Given the description of an element on the screen output the (x, y) to click on. 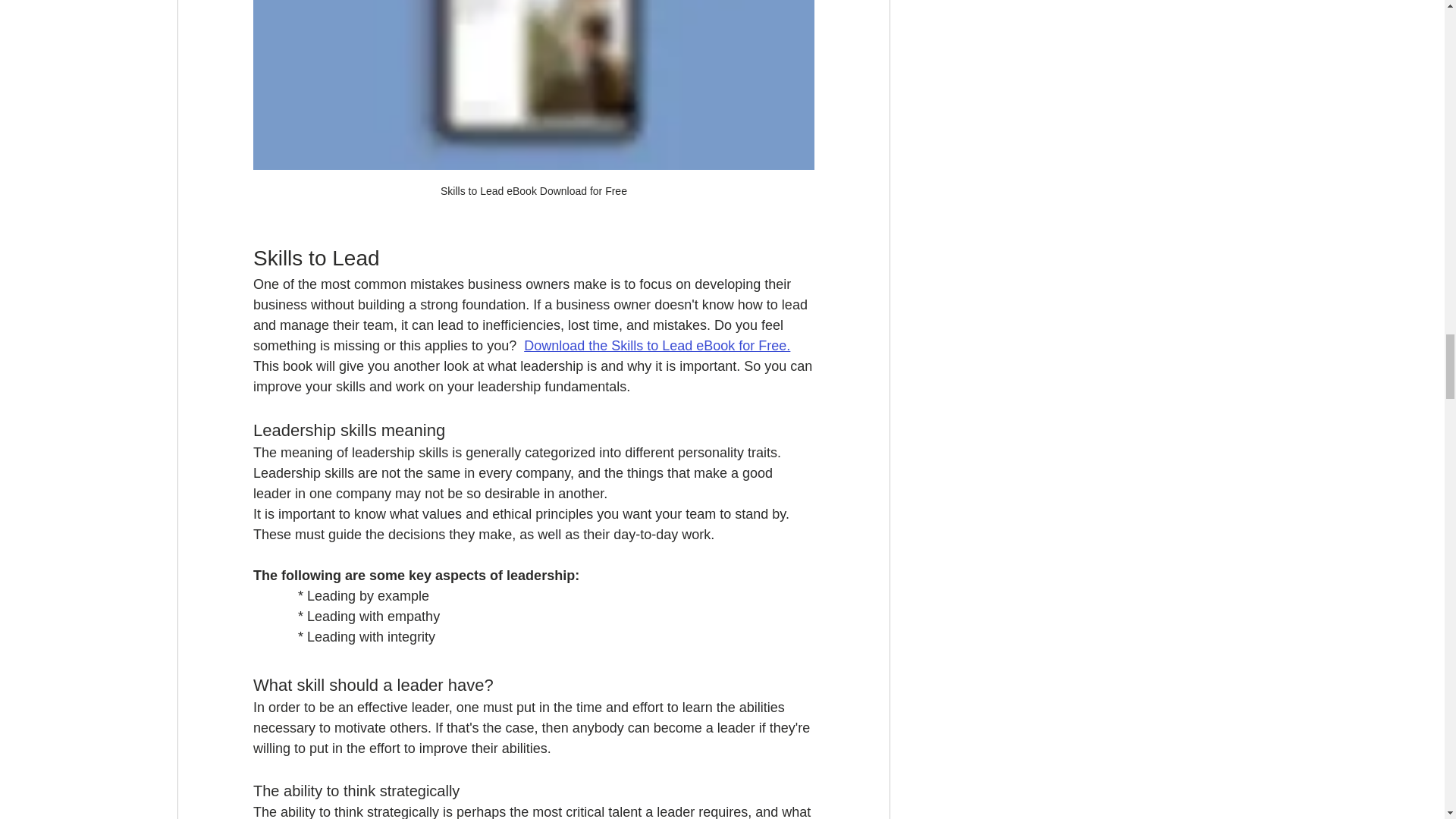
Skills to Lead (316, 258)
Skills to Lead eBook Download for Free (533, 106)
Download the Skills to Lead eBook for Free. (657, 345)
